Given the description of an element on the screen output the (x, y) to click on. 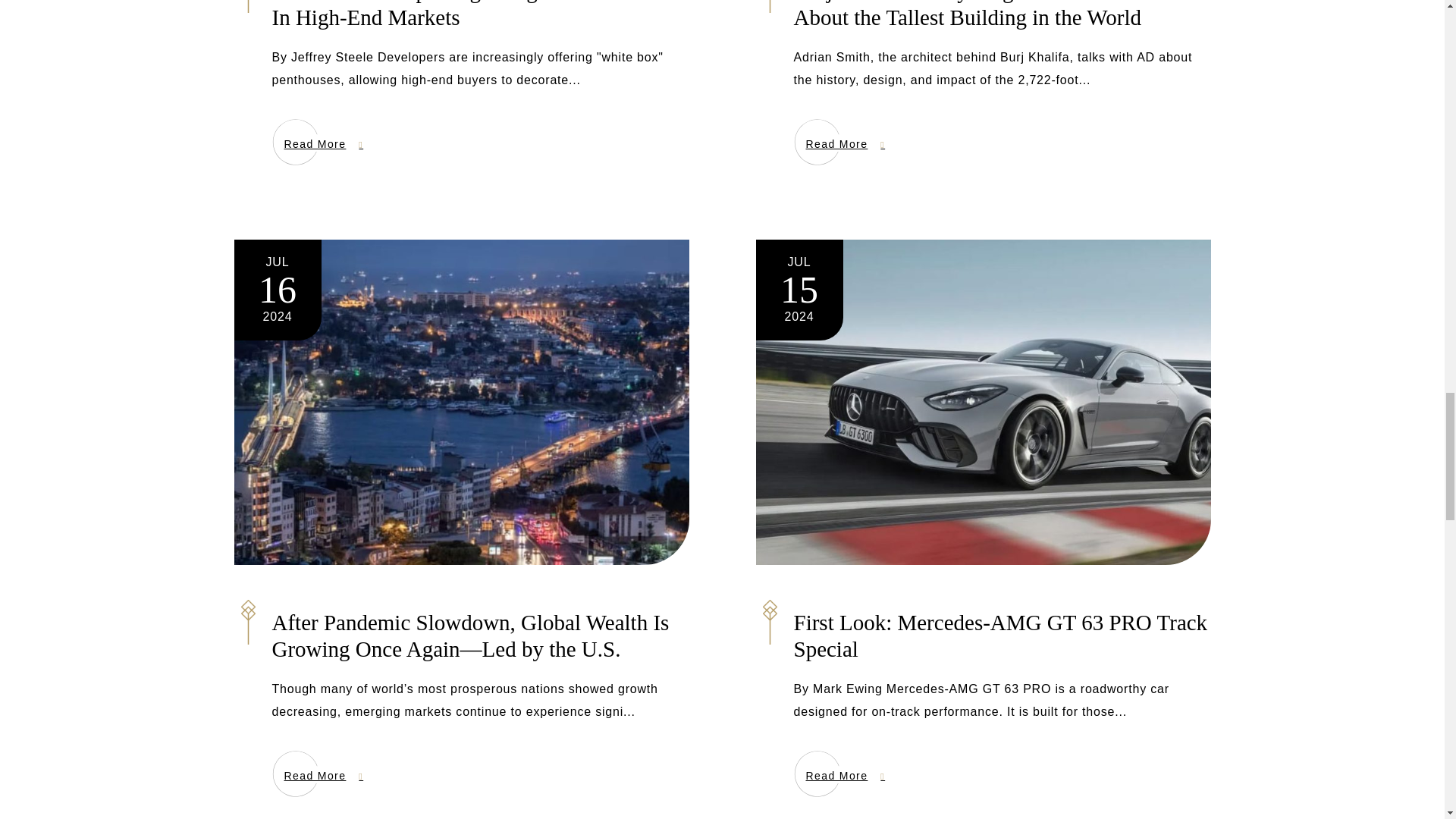
Read More (322, 773)
Read More (322, 142)
Read More (844, 142)
Read More (844, 773)
